Given the description of an element on the screen output the (x, y) to click on. 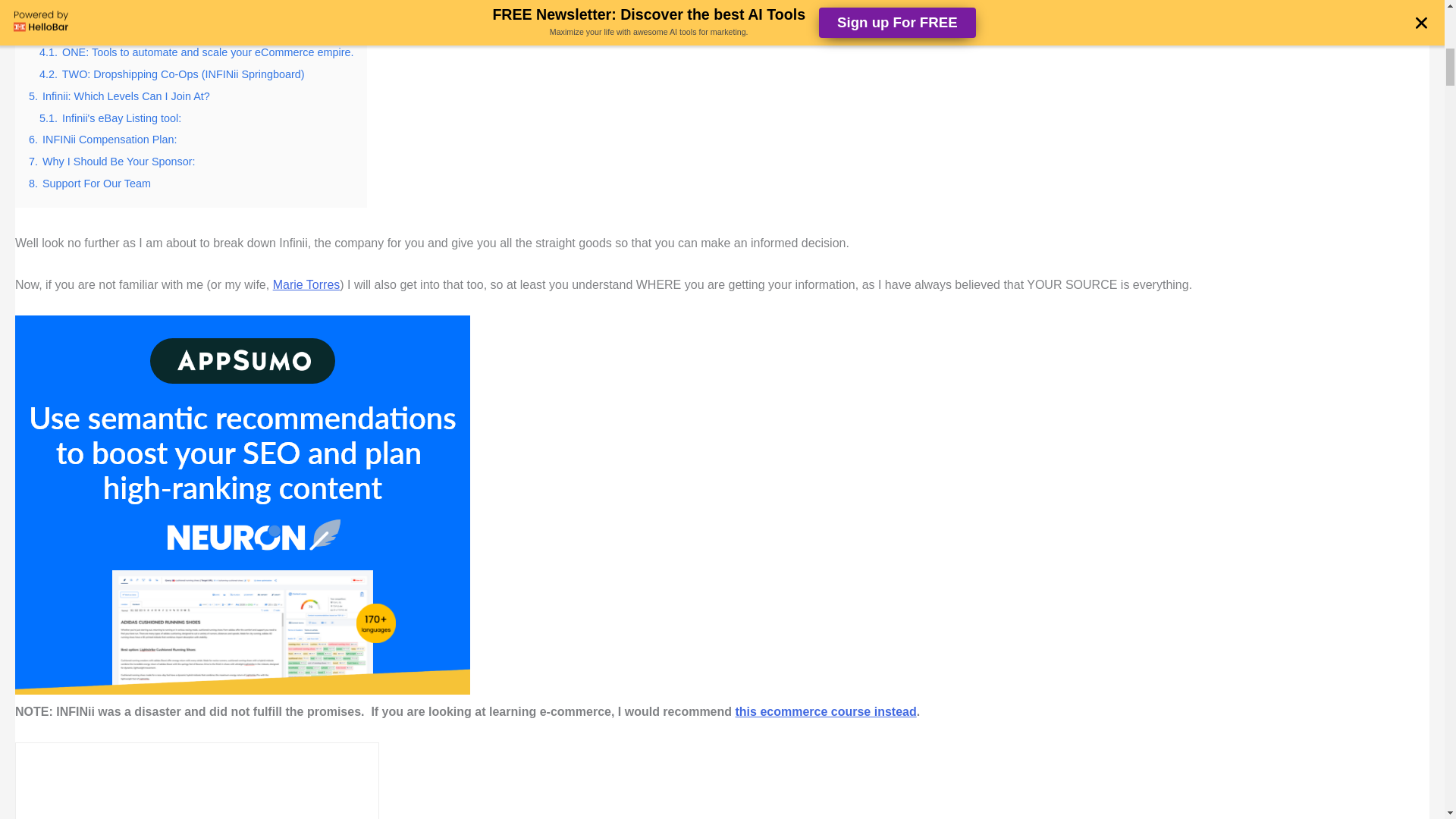
this ecommerce course instead (826, 711)
7. Why I Should Be Your Sponsor: (112, 161)
Marie Torres (306, 284)
5. Infinii: Which Levels Can I Join At? (119, 96)
4.1. ONE: Tools to automate and scale your eCommerce empire. (196, 51)
4. Infinii Review: INFINii Products Explained (136, 30)
8. Support For Our Team (90, 183)
6. INFINii Compensation Plan: (103, 139)
3. A Word about INFINii eCommerce (117, 9)
5.1. Infinii's eBay Listing tool: (109, 118)
